Given the description of an element on the screen output the (x, y) to click on. 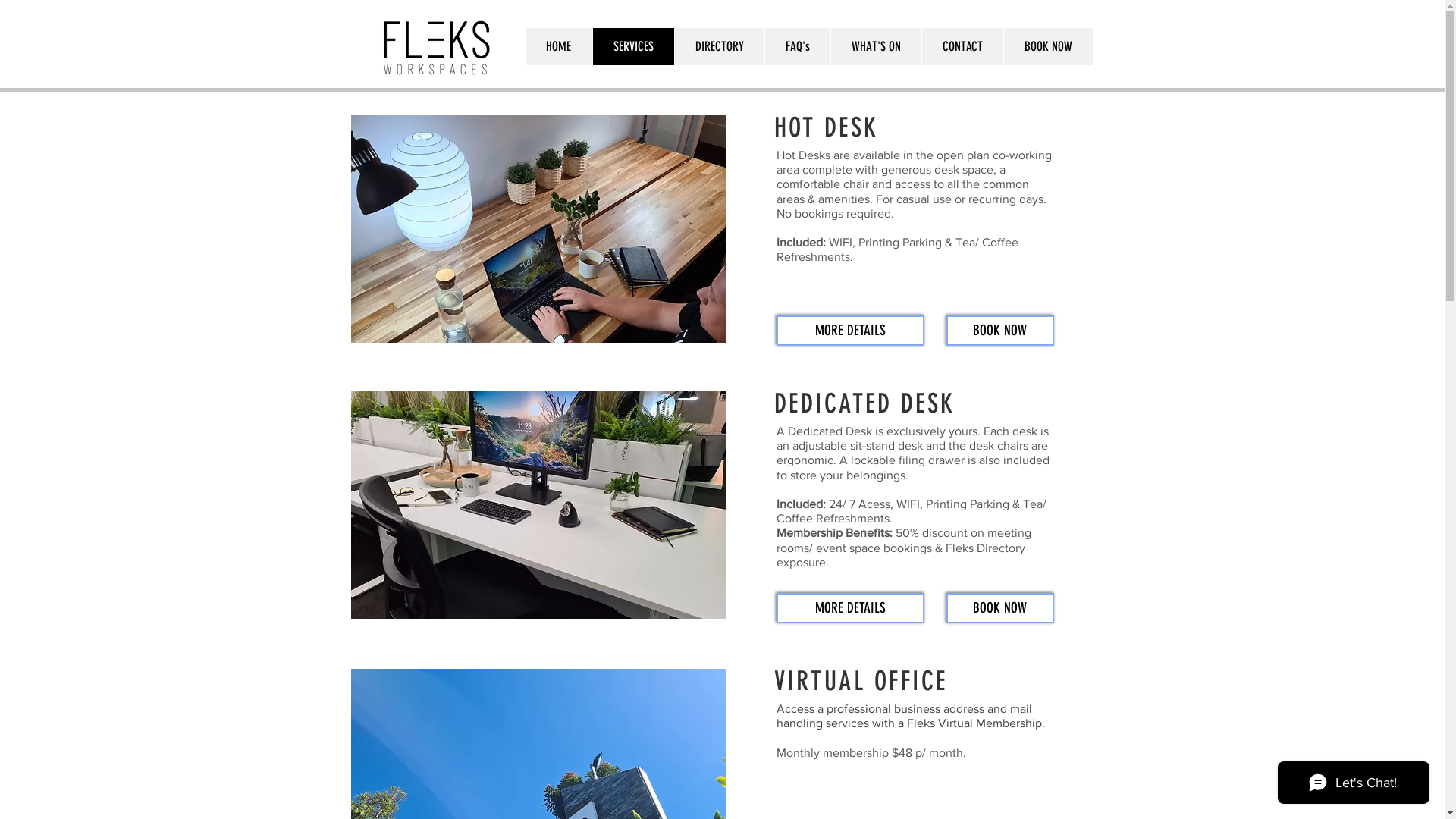
HOME Element type: text (557, 46)
WHAT'S ON Element type: text (874, 46)
MORE DETAILS Element type: text (850, 608)
BOOK NOW Element type: text (1047, 46)
BOOK NOW Element type: text (1000, 330)
BOOK NOW Element type: text (1000, 608)
MORE DETAILS Element type: text (850, 330)
DIRECTORY Element type: text (718, 46)
FAQ's Element type: text (797, 46)
CONTACT Element type: text (961, 46)
SERVICES Element type: text (632, 46)
